Given the description of an element on the screen output the (x, y) to click on. 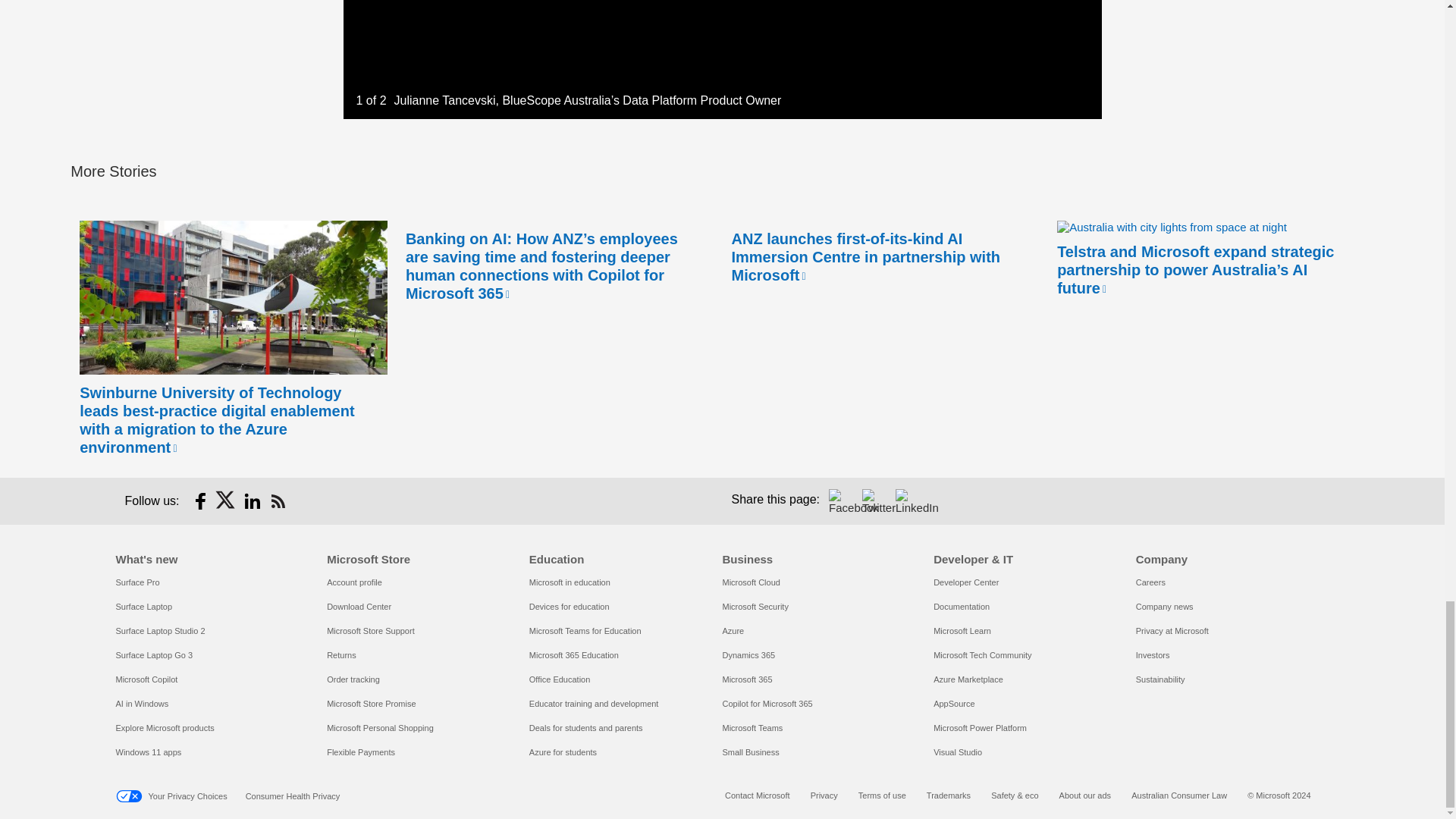
Follow on LinkedIn (252, 500)
Follow on Twitter (226, 500)
Follow on Facebook (200, 500)
RSS Subscription (277, 500)
Share on LinkedIn (907, 500)
Share on Twitter (873, 500)
Share on Facebook (840, 500)
